Given the description of an element on the screen output the (x, y) to click on. 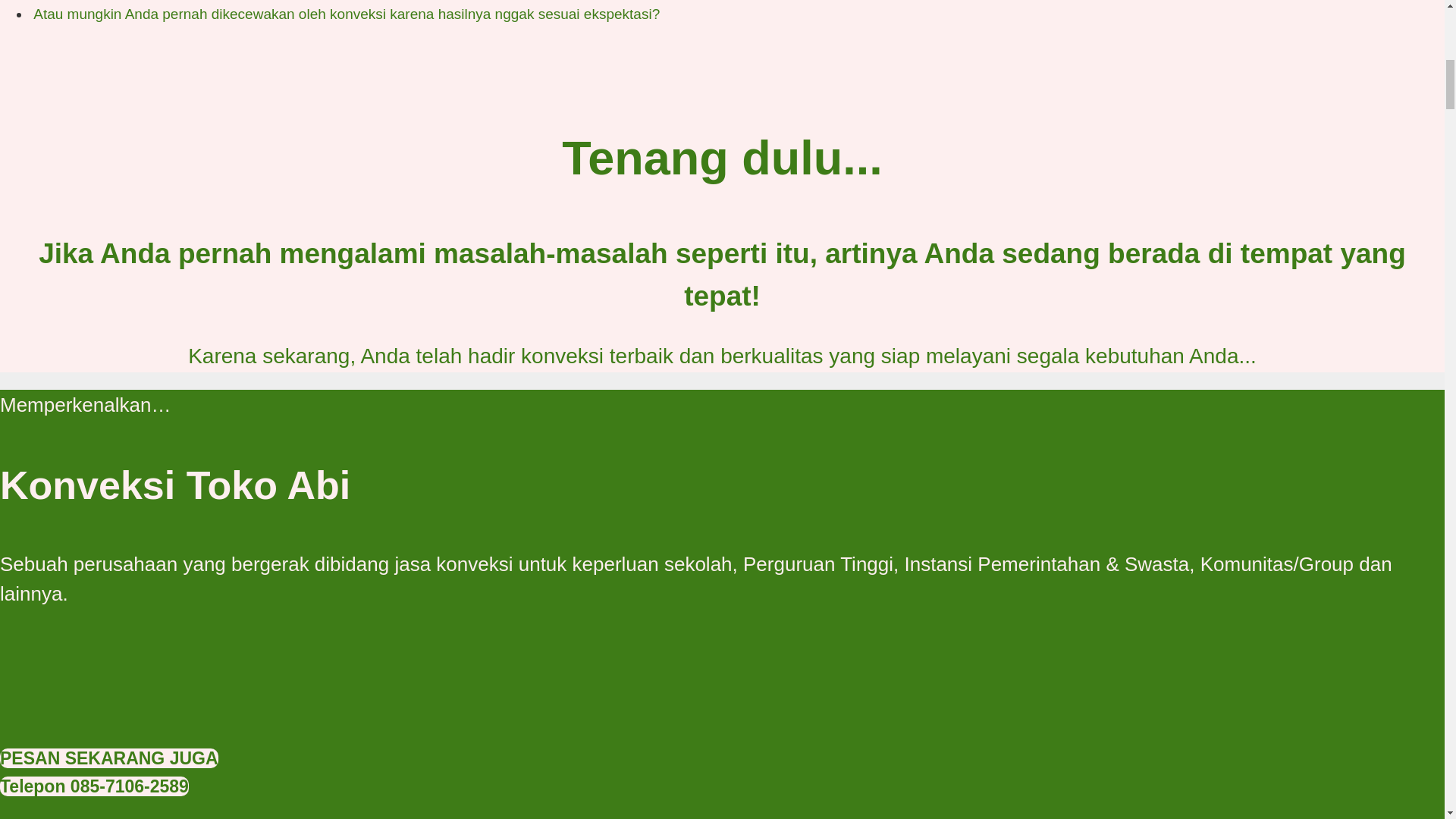
Telepon 085-7106-2589 (94, 786)
PESAN SEKARANG JUGA (109, 758)
seragam jas almamaater (721, 682)
